Given the description of an element on the screen output the (x, y) to click on. 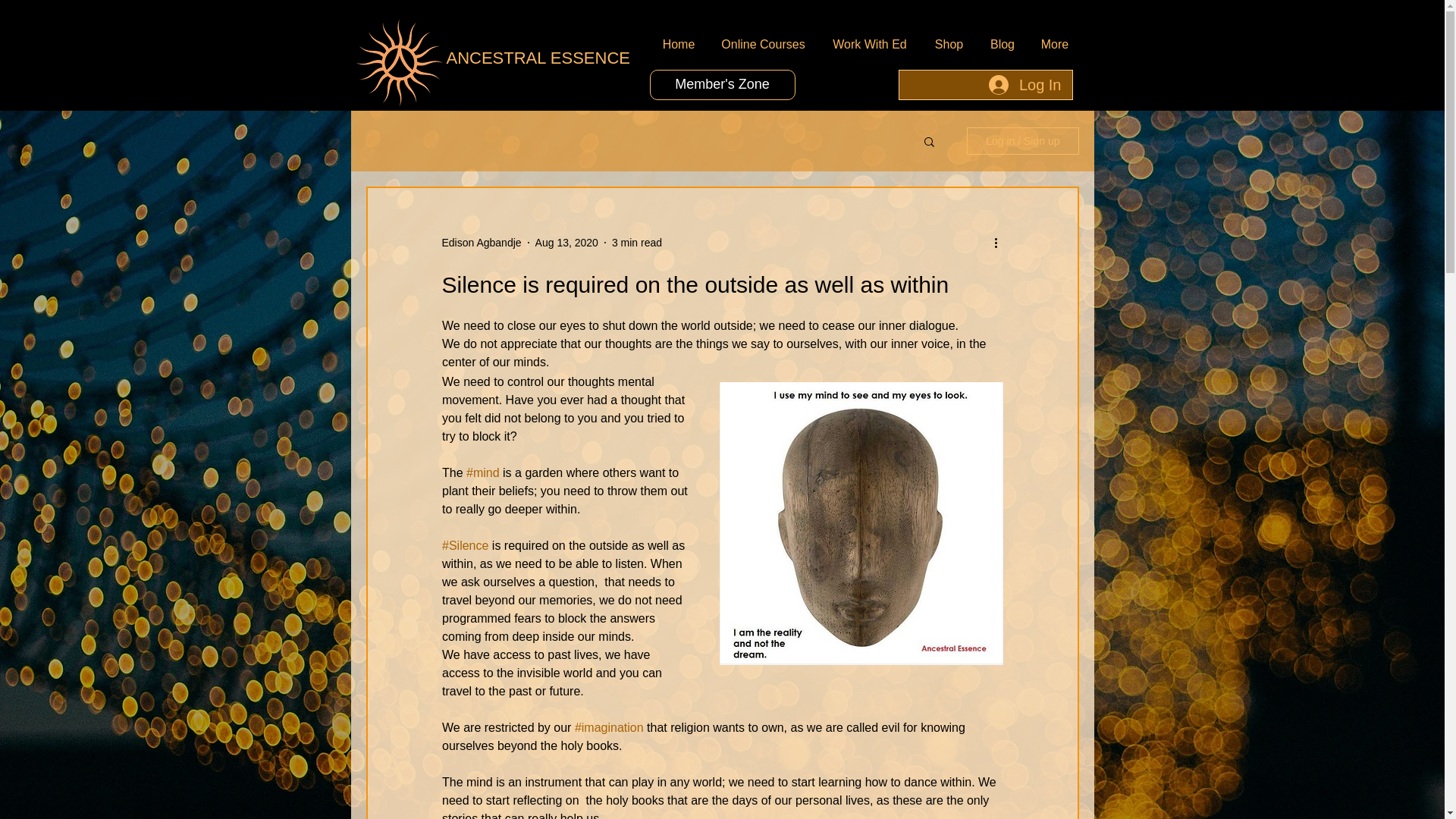
Edison Agbandje (481, 242)
Shop (948, 44)
Member's Zone (721, 84)
3 min read (636, 242)
Blog (1001, 44)
Home (678, 44)
Aug 13, 2020 (566, 242)
Log In (1024, 84)
 Edison Agbandje (481, 242)
